Given the description of an element on the screen output the (x, y) to click on. 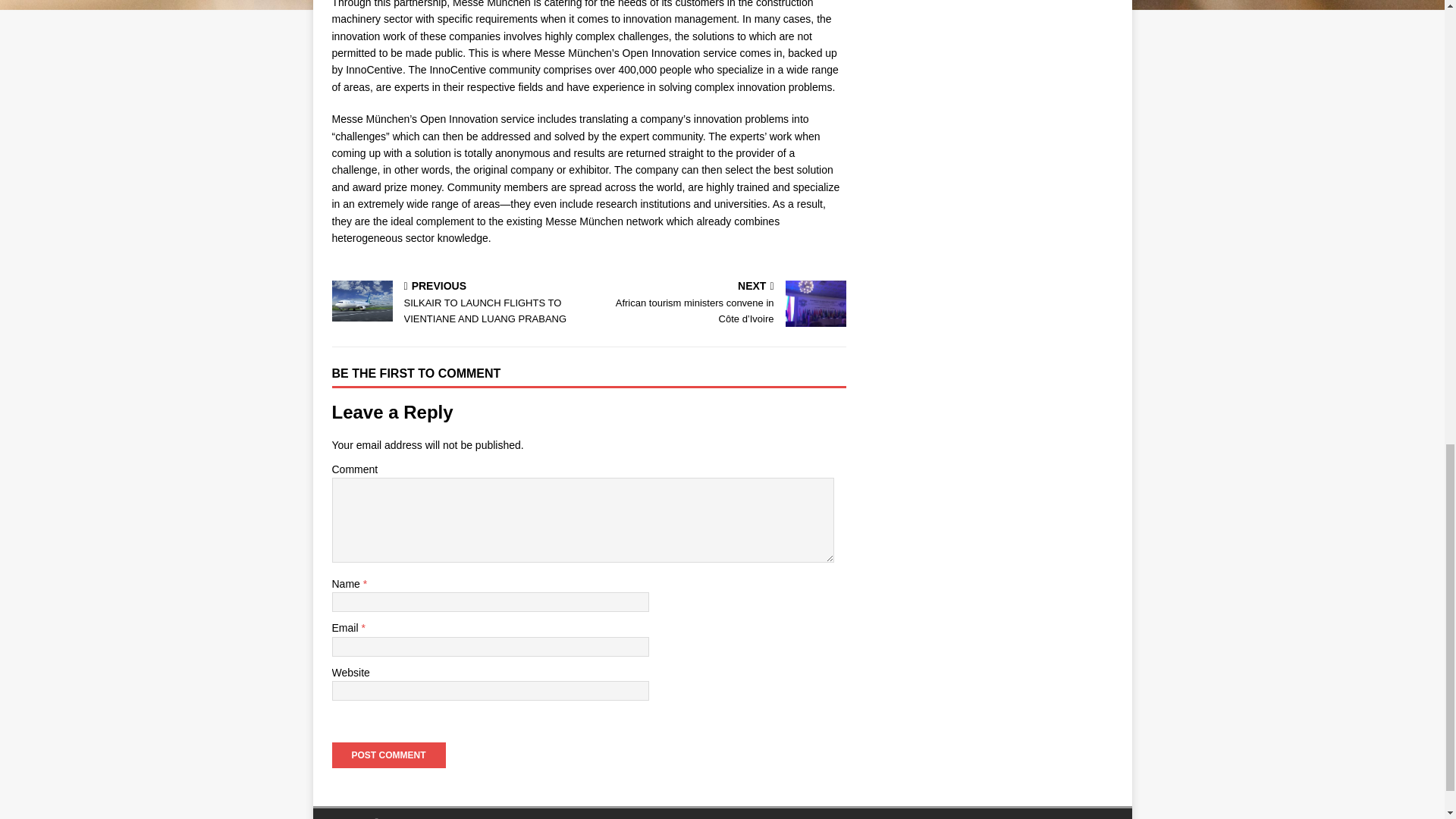
Post Comment (388, 755)
Post Comment (388, 755)
